Given the description of an element on the screen output the (x, y) to click on. 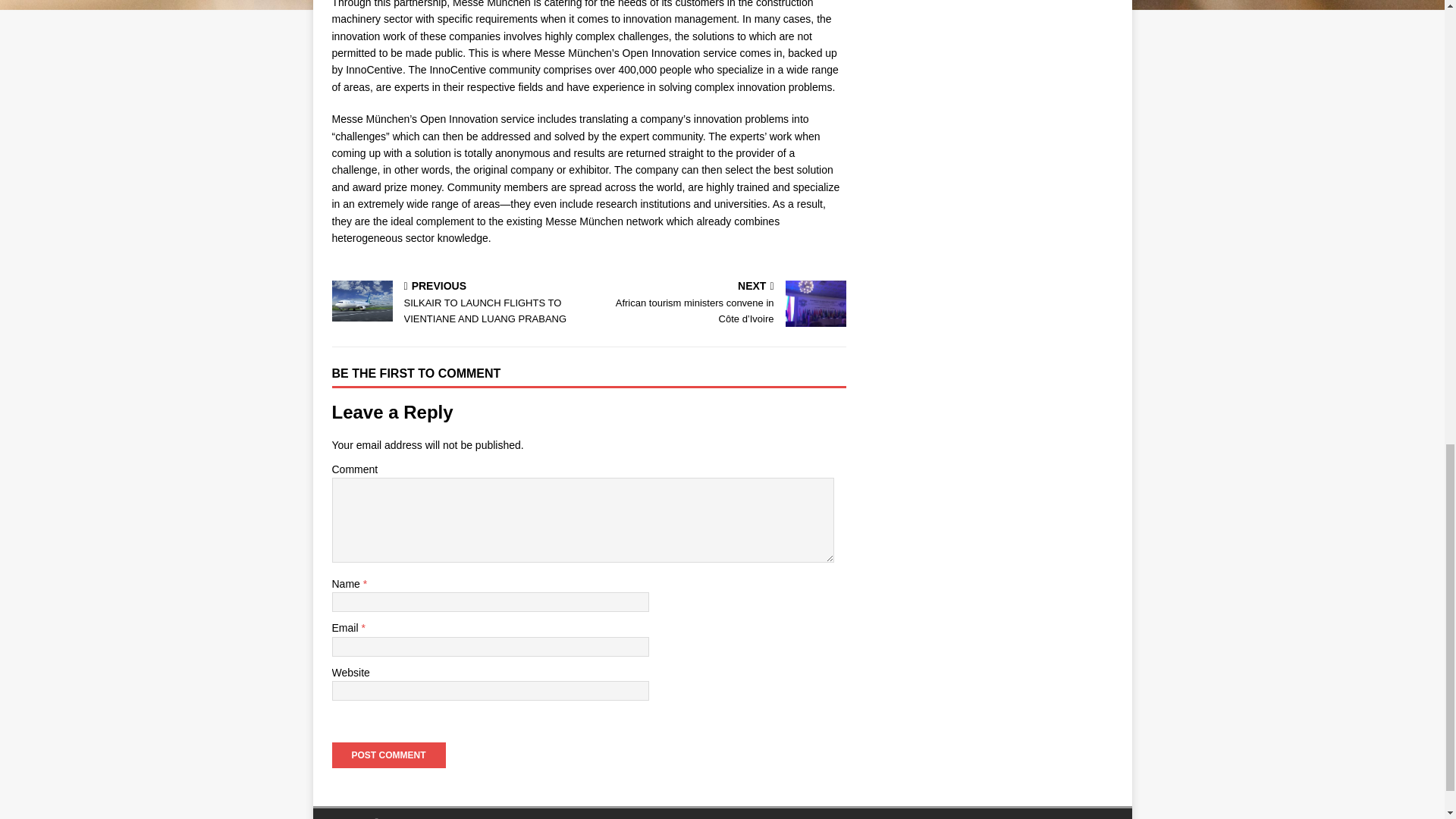
Post Comment (388, 755)
Post Comment (388, 755)
